Given the description of an element on the screen output the (x, y) to click on. 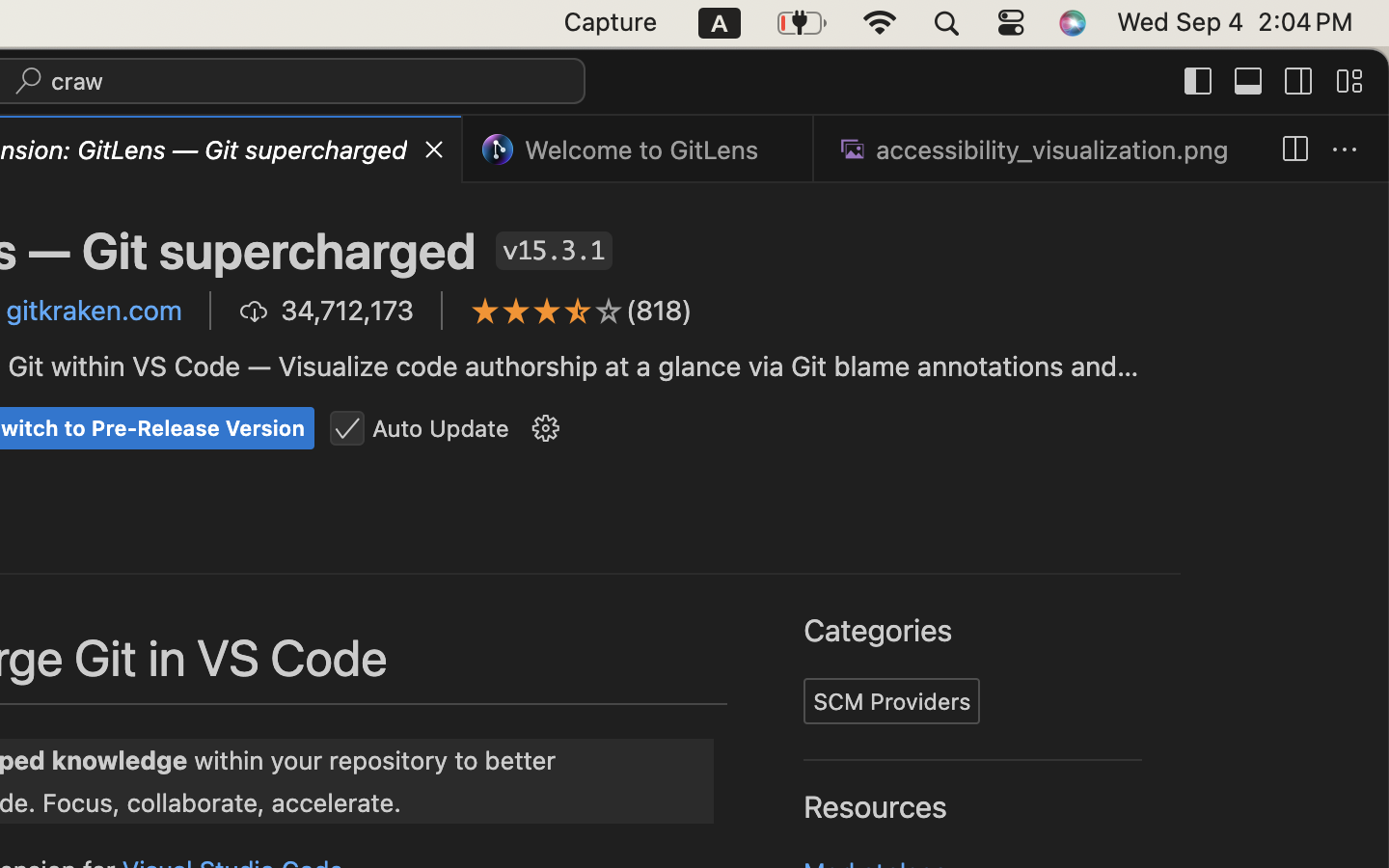
customizable Element type: AXStaticText (786, 457)
 Element type: AXButton (1349, 80)
 Element type: AXStaticText (578, 310)
Get Started Walkthrough Element type: AXStaticText (1048, 561)
feature rich Element type: AXStaticText (1021, 422)
